Given the description of an element on the screen output the (x, y) to click on. 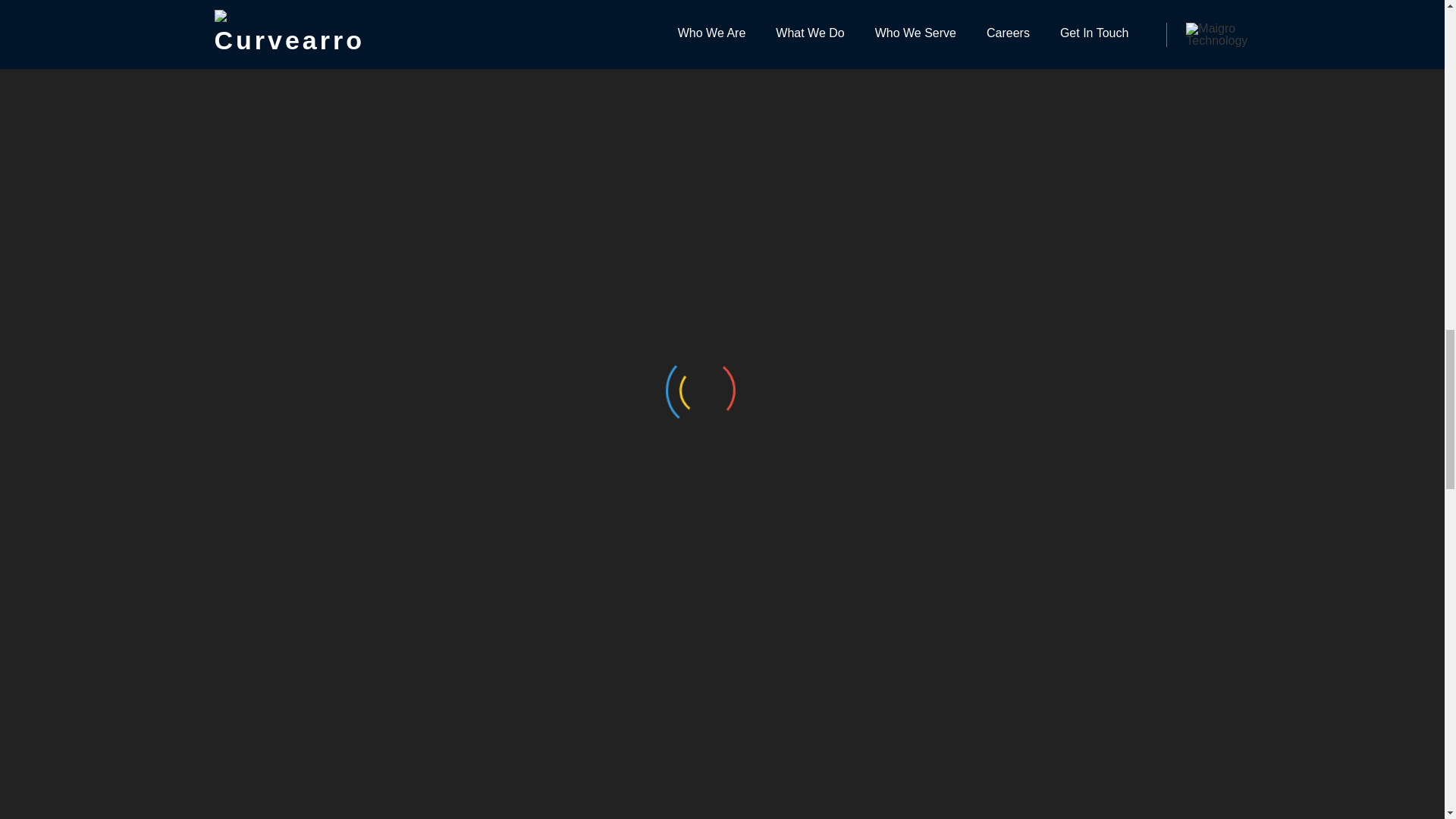
high website traffic (450, 313)
Instagram (521, 64)
search engine optimization (611, 521)
